Given the description of an element on the screen output the (x, y) to click on. 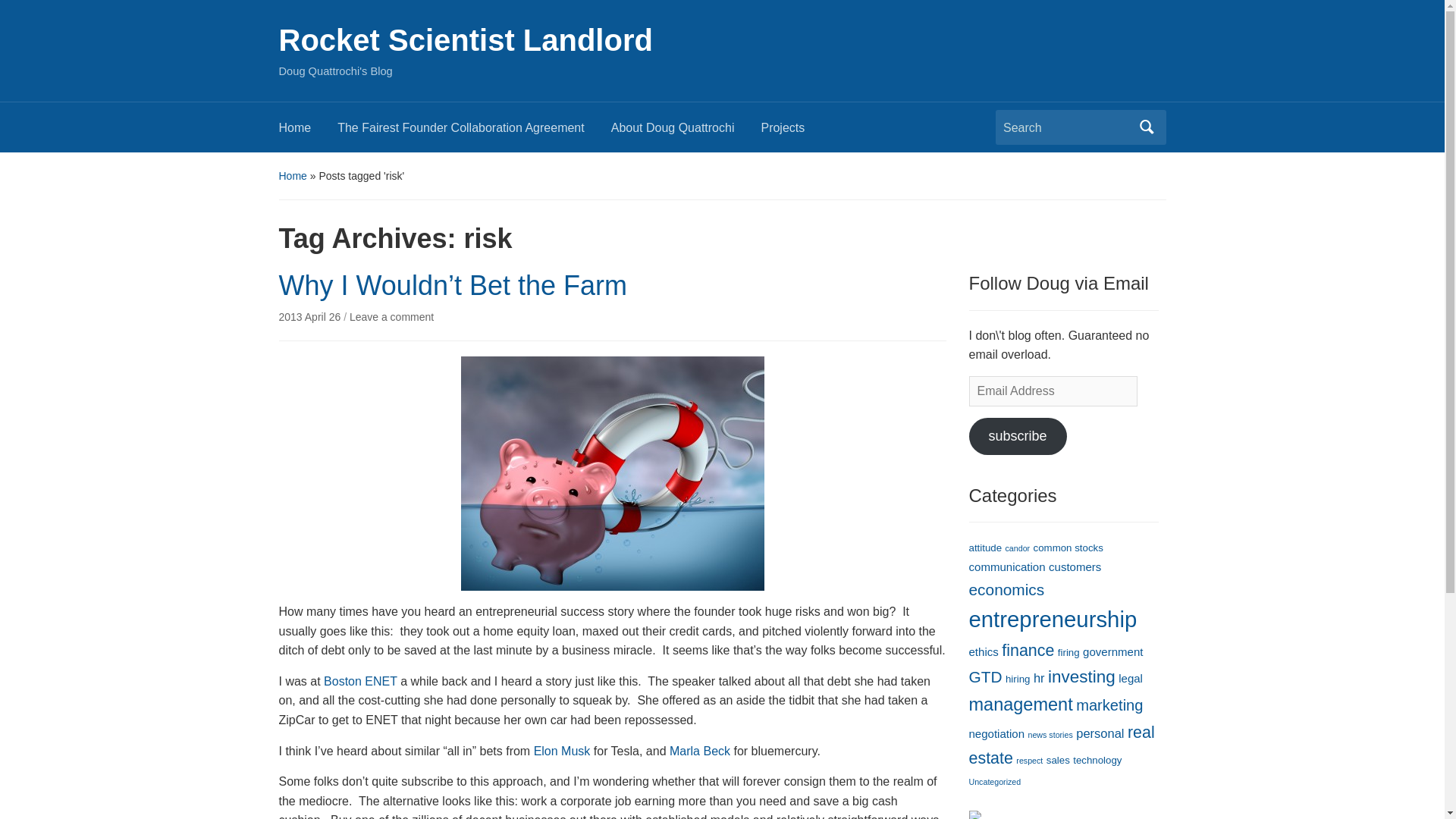
2013 April 26 (311, 316)
firing (1069, 652)
personal (1099, 733)
About Doug Quattrochi (686, 131)
Rocket Scientist Landlord (465, 39)
Projects (795, 131)
negotiation (997, 733)
Marla Beck (699, 750)
communication (1007, 566)
entrepreneurship (1053, 618)
common stocks (1068, 547)
economics (1007, 589)
legal (1130, 677)
government (1112, 651)
subscribe (1018, 436)
